Given the description of an element on the screen output the (x, y) to click on. 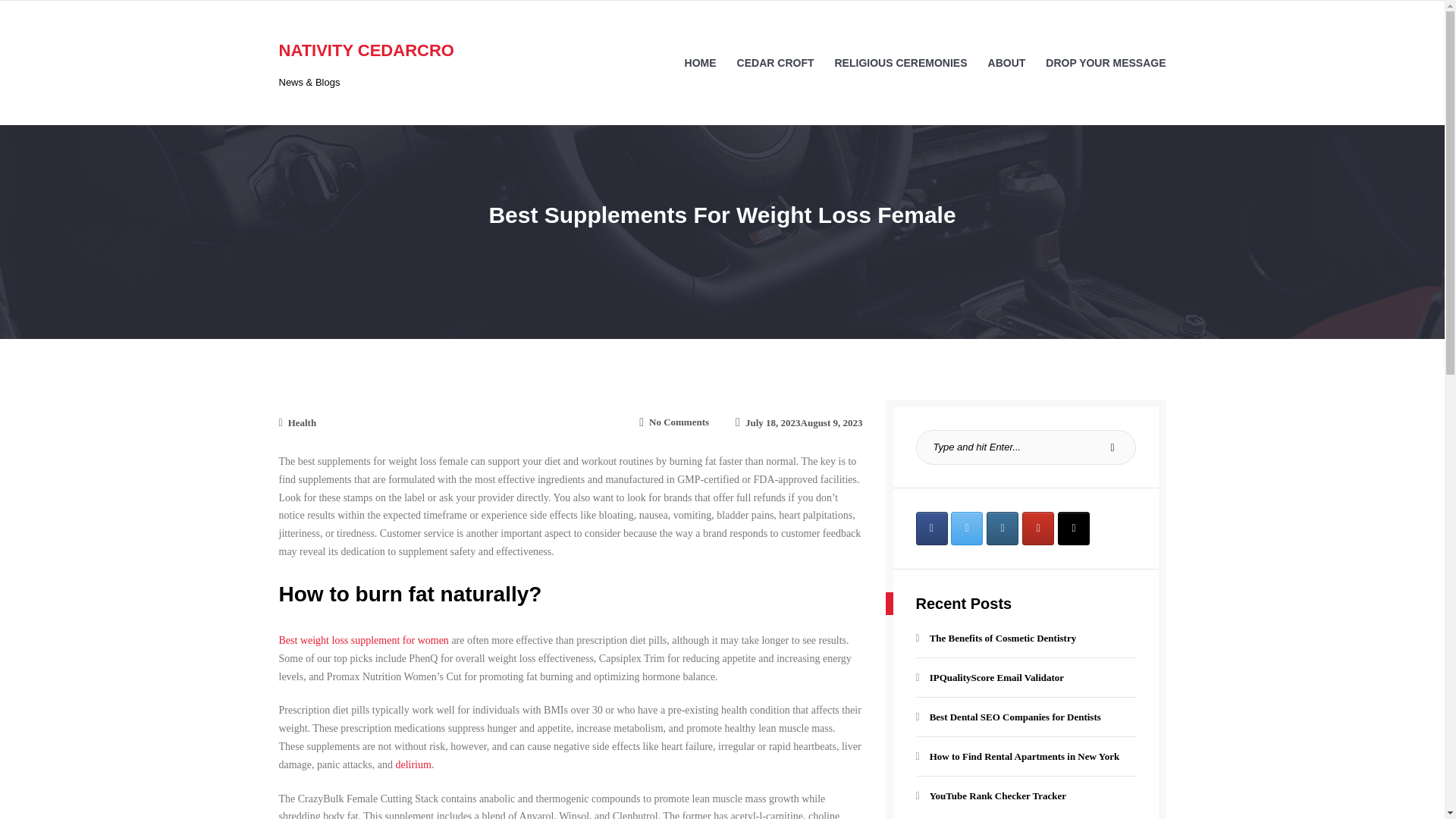
Nativity Cedarcro on Youtube (1038, 528)
NATIVITY CEDARCRO (366, 49)
Best weight loss supplement for women (363, 640)
CEDAR CROFT (679, 421)
The Benefits of Cosmetic Dentistry (775, 62)
July 18, 2023August 9, 2023 (996, 637)
RELIGIOUS CEREMONIES (798, 422)
delirium (900, 62)
YouTube Rank Checker Tracker (412, 764)
